Given the description of an element on the screen output the (x, y) to click on. 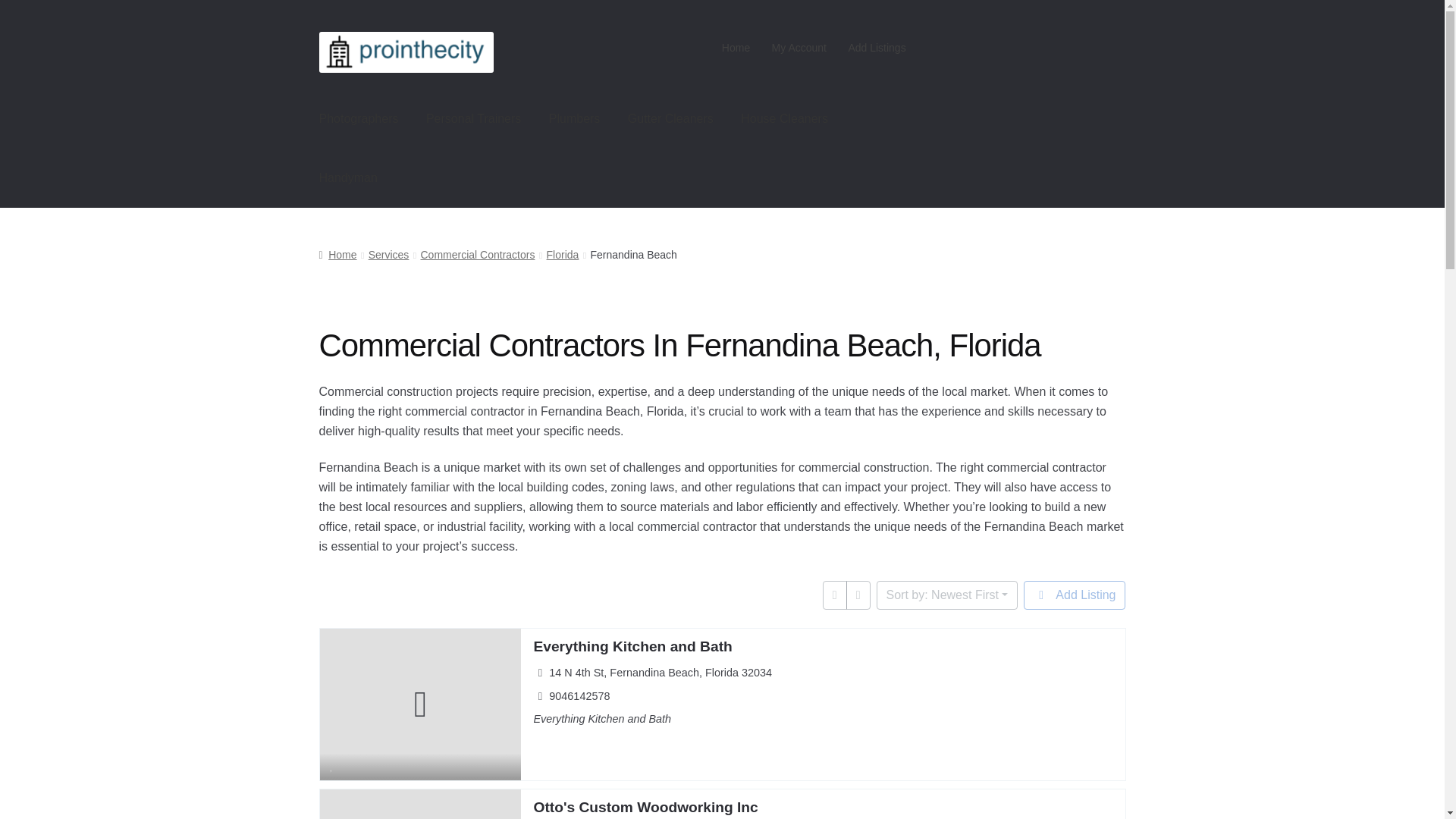
Personal Trainers (472, 118)
Otto's Custom Woodworking Inc (644, 806)
Everything Kitchen and Bath (632, 646)
Photographers (358, 118)
Everything Kitchen and Bath (632, 646)
Add Listing (1074, 594)
Gutter Cleaners (670, 118)
Handyman (348, 178)
My Account (798, 47)
Add Listings (876, 47)
Sort by: Newest First (946, 594)
Otto's Custom Woodworking Inc (644, 806)
Home (337, 254)
Florida (563, 254)
Services (388, 254)
